Given the description of an element on the screen output the (x, y) to click on. 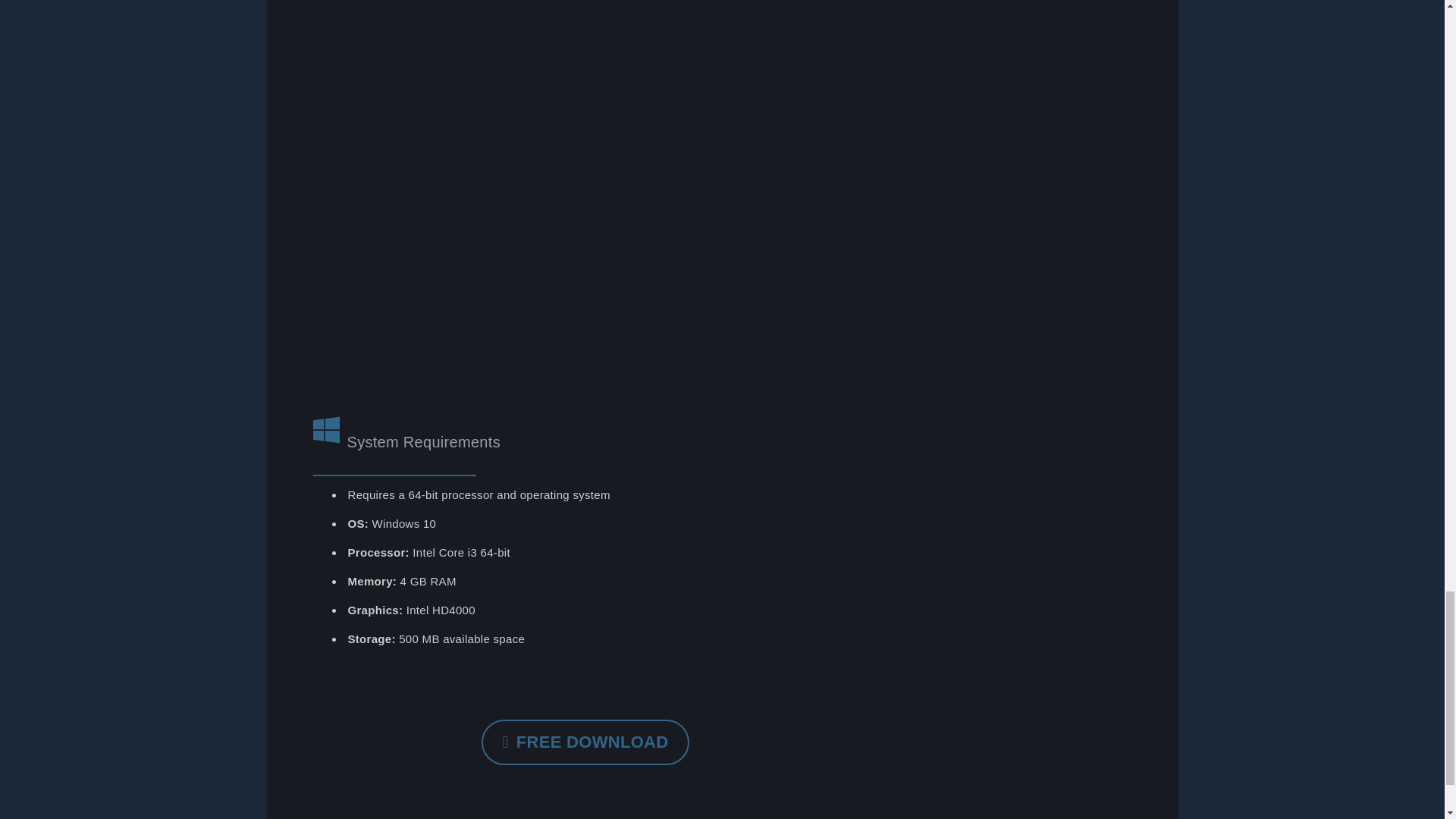
FREE DOWNLOAD (584, 741)
